Given the description of an element on the screen output the (x, y) to click on. 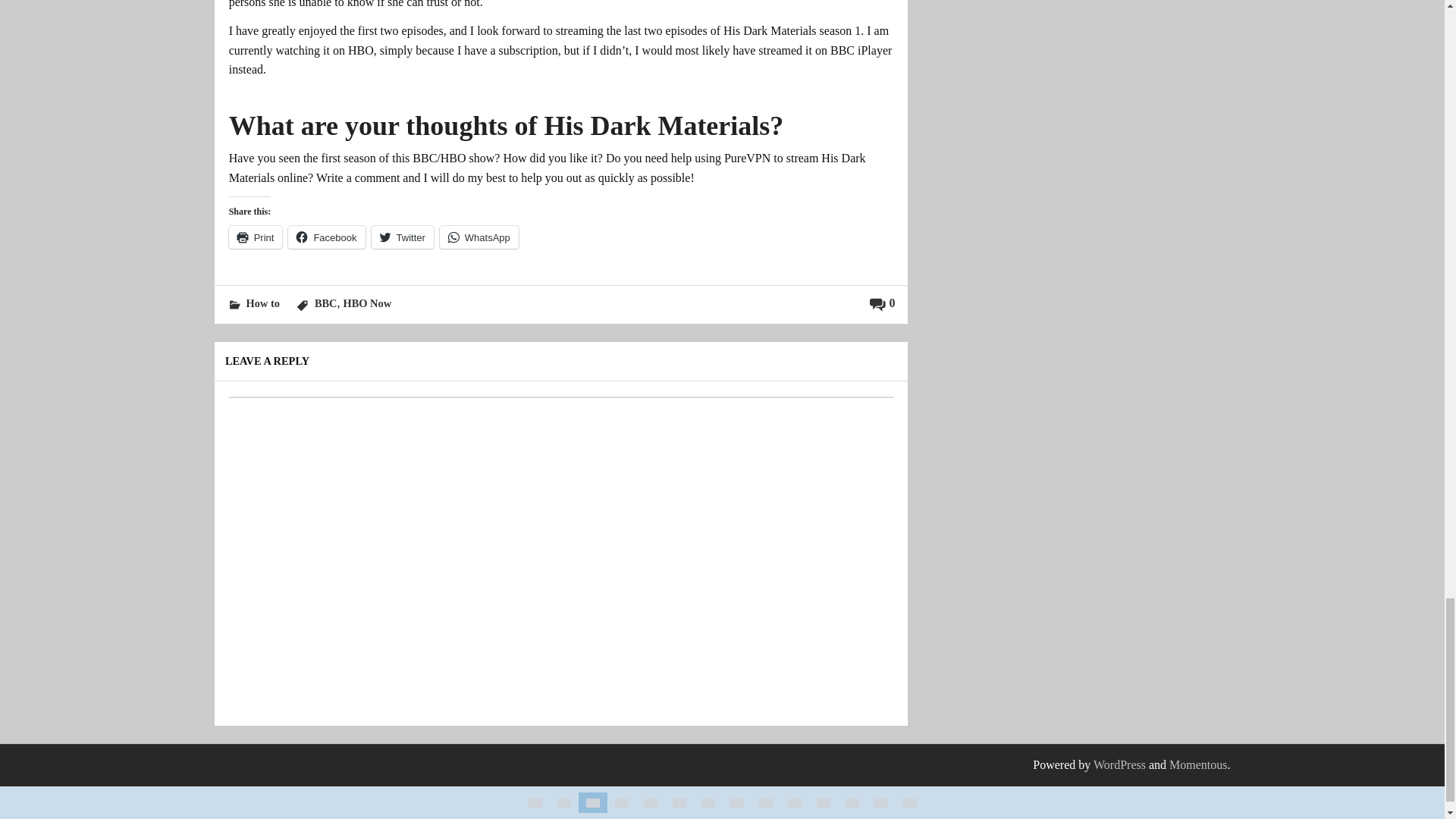
Momentous WordPress Theme (1198, 764)
Print (255, 237)
BBC (325, 303)
Click to share on Twitter (402, 237)
Twitter (402, 237)
WordPress (1119, 764)
Click to share on Facebook (326, 237)
Facebook (326, 237)
HBO Now (366, 303)
0 (882, 302)
WhatsApp (478, 237)
Click to share on WhatsApp (478, 237)
How to (262, 303)
Click to print (255, 237)
